Given the description of an element on the screen output the (x, y) to click on. 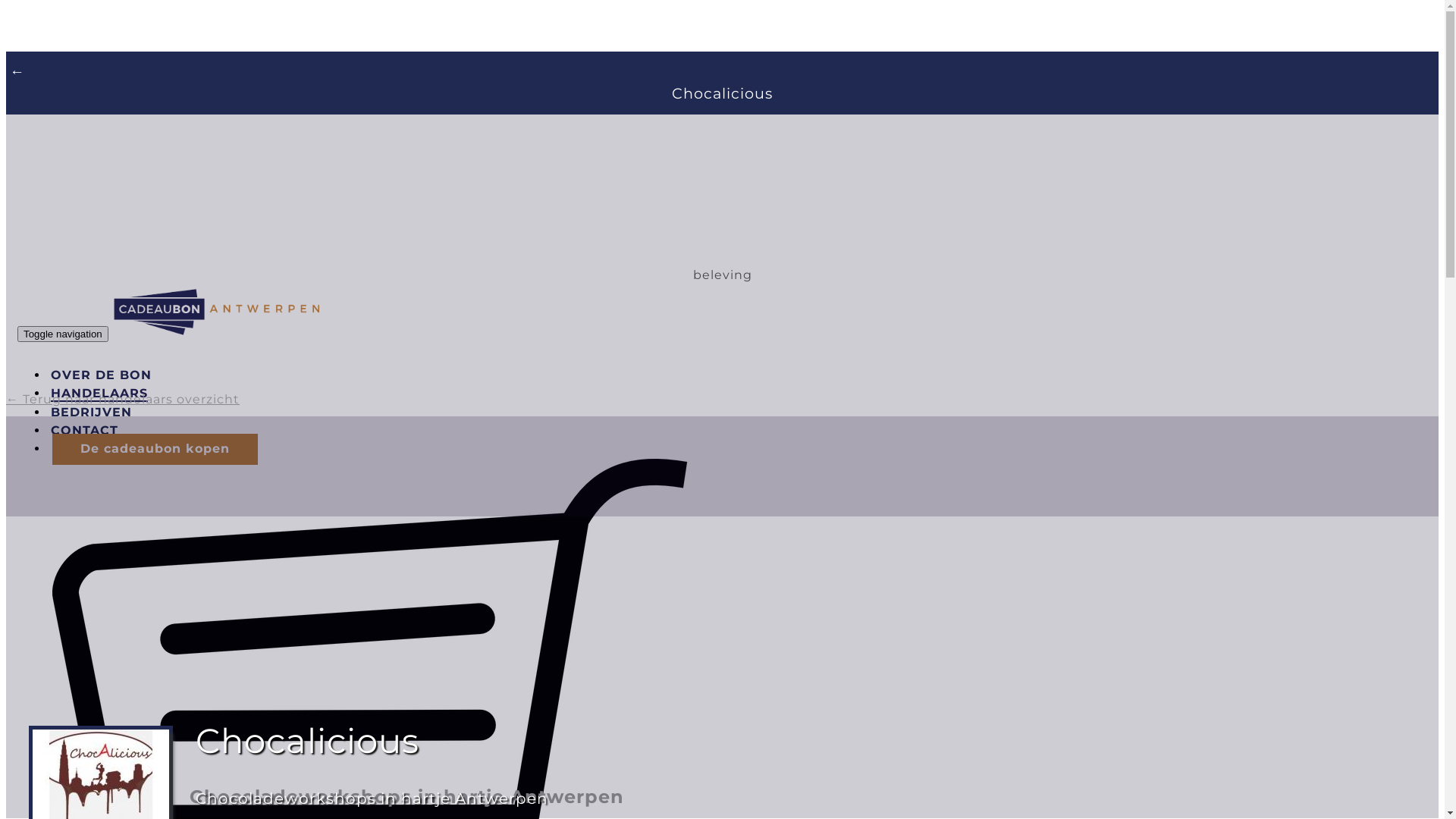
Toggle navigation Element type: text (62, 334)
De cadeaubon kopen Element type: text (154, 448)
OVER DE BON Element type: text (100, 371)
HANDELAARS Element type: text (98, 389)
BEDRIJVEN Element type: text (90, 408)
beleving Element type: text (722, 274)
CONTACT Element type: text (84, 426)
Cadeaubon antwerpen Element type: hover (217, 310)
